Given the description of an element on the screen output the (x, y) to click on. 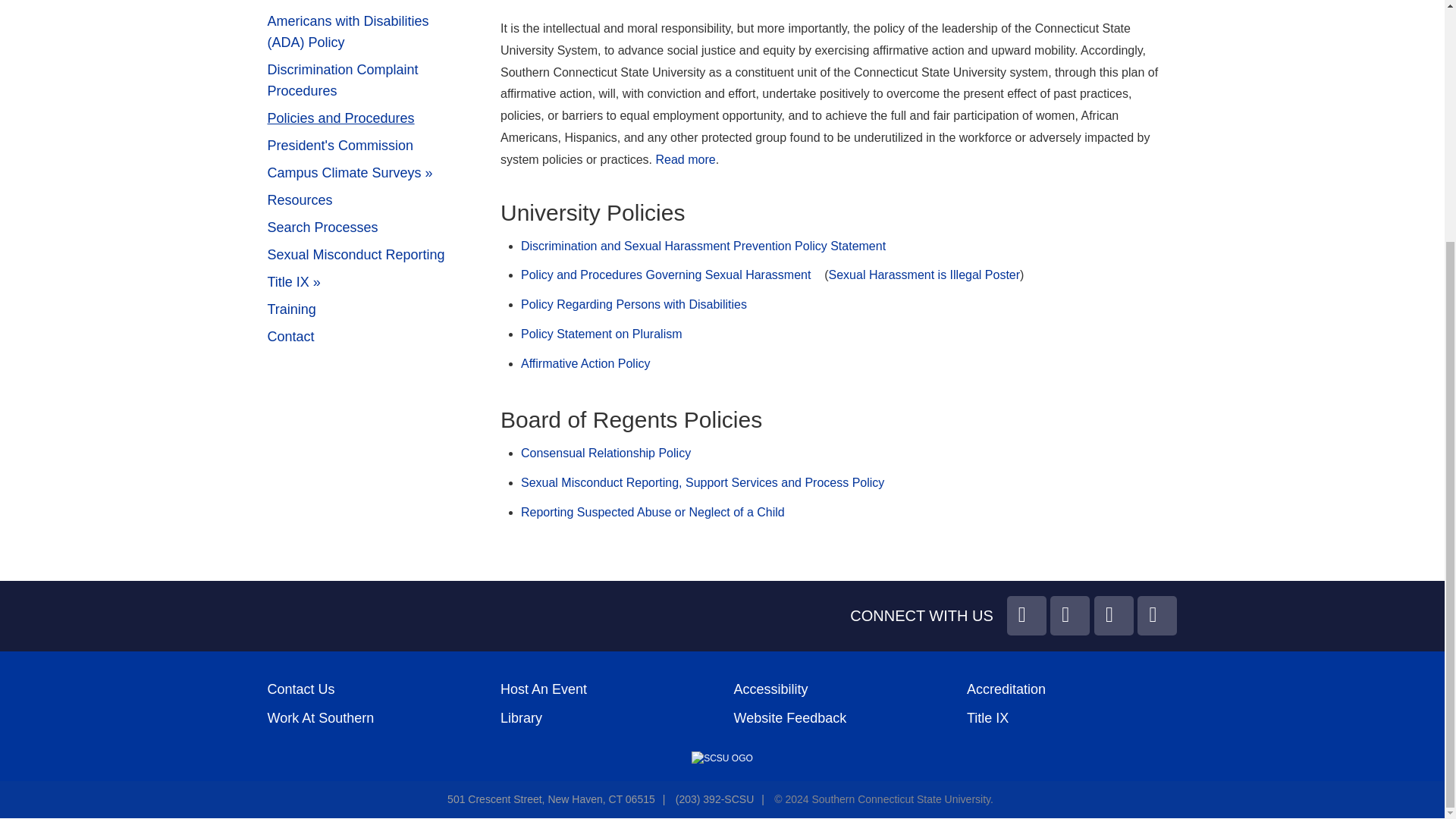
Policy Regarding Persons with Disabilities (633, 304)
Reporting Suspected Abuse or Neglect of a Child (652, 512)
Policy Statement (686, 159)
Sexual Misconduct Policy (702, 481)
Consensual Relationship Policy (605, 452)
President's Commission (371, 145)
Policy and Procedures Governing Sexual Harassment (665, 274)
Sexual Harassment is Illegal Poster (924, 274)
Discrimination Complaint Procedures (371, 80)
Affirmative Action Policy (585, 363)
Policies and Procedures (371, 118)
Affirmative Action (371, 4)
Policy Statement on Pluralism (601, 333)
